Given the description of an element on the screen output the (x, y) to click on. 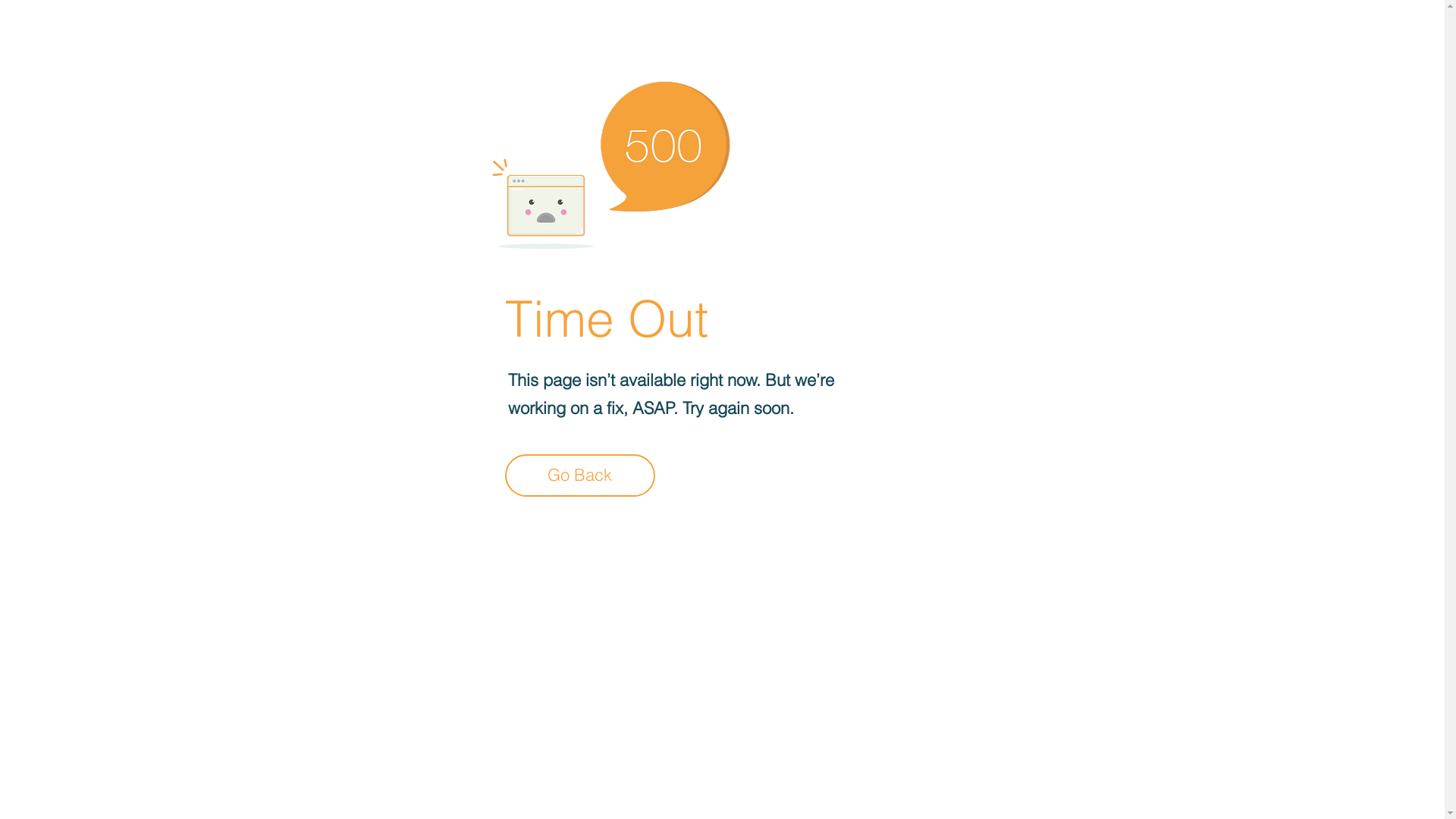
Go Back Element type: text (580, 475)
500.png Element type: hover (610, 164)
